Given the description of an element on the screen output the (x, y) to click on. 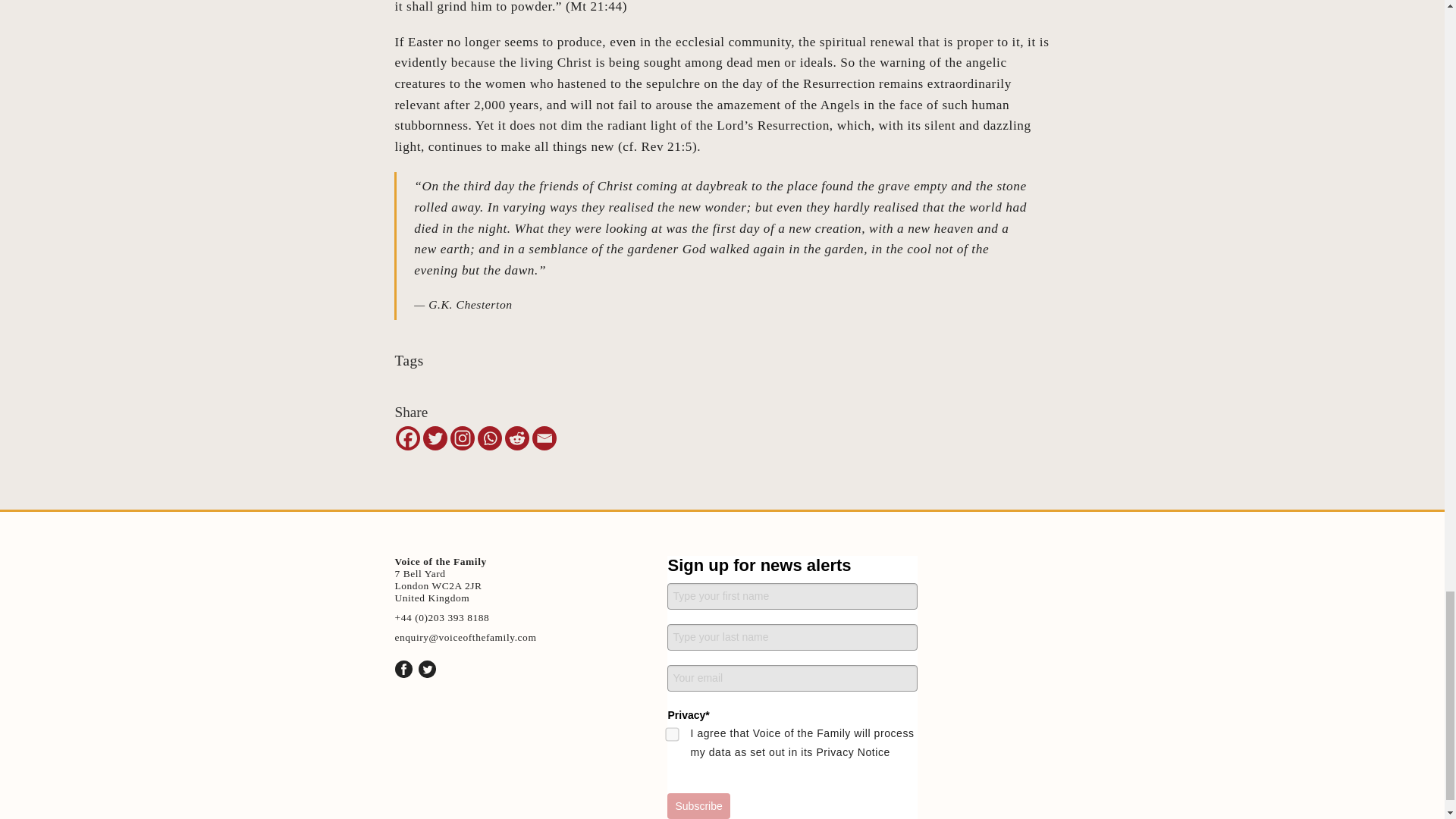
Facebook (408, 437)
Email (544, 437)
Reddit (517, 437)
Instagram (461, 437)
Twitter (434, 437)
Whatsapp (489, 437)
